Given the description of an element on the screen output the (x, y) to click on. 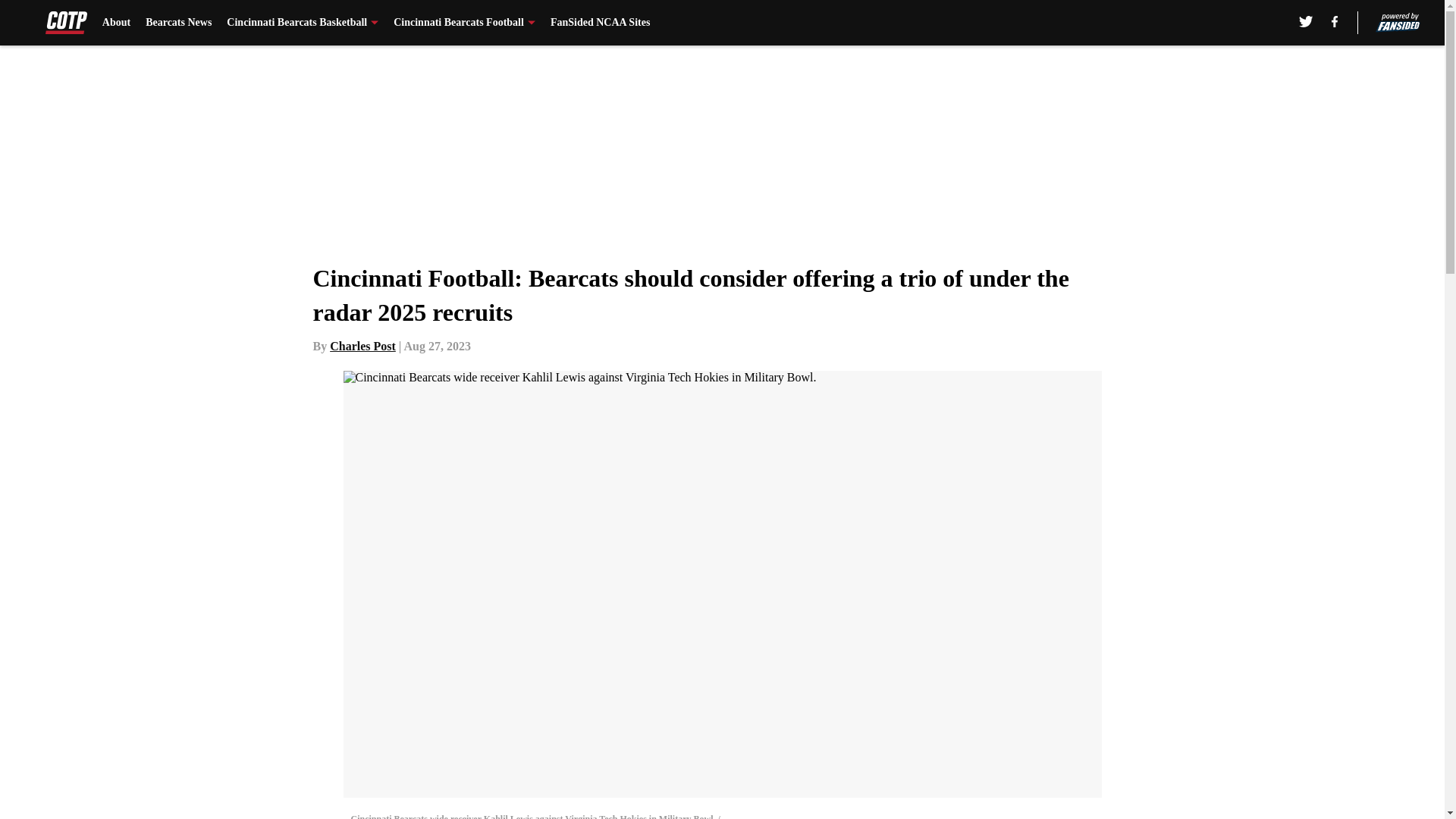
Charles Post (363, 345)
Bearcats News (178, 22)
FanSided NCAA Sites (599, 22)
About (116, 22)
